Given the description of an element on the screen output the (x, y) to click on. 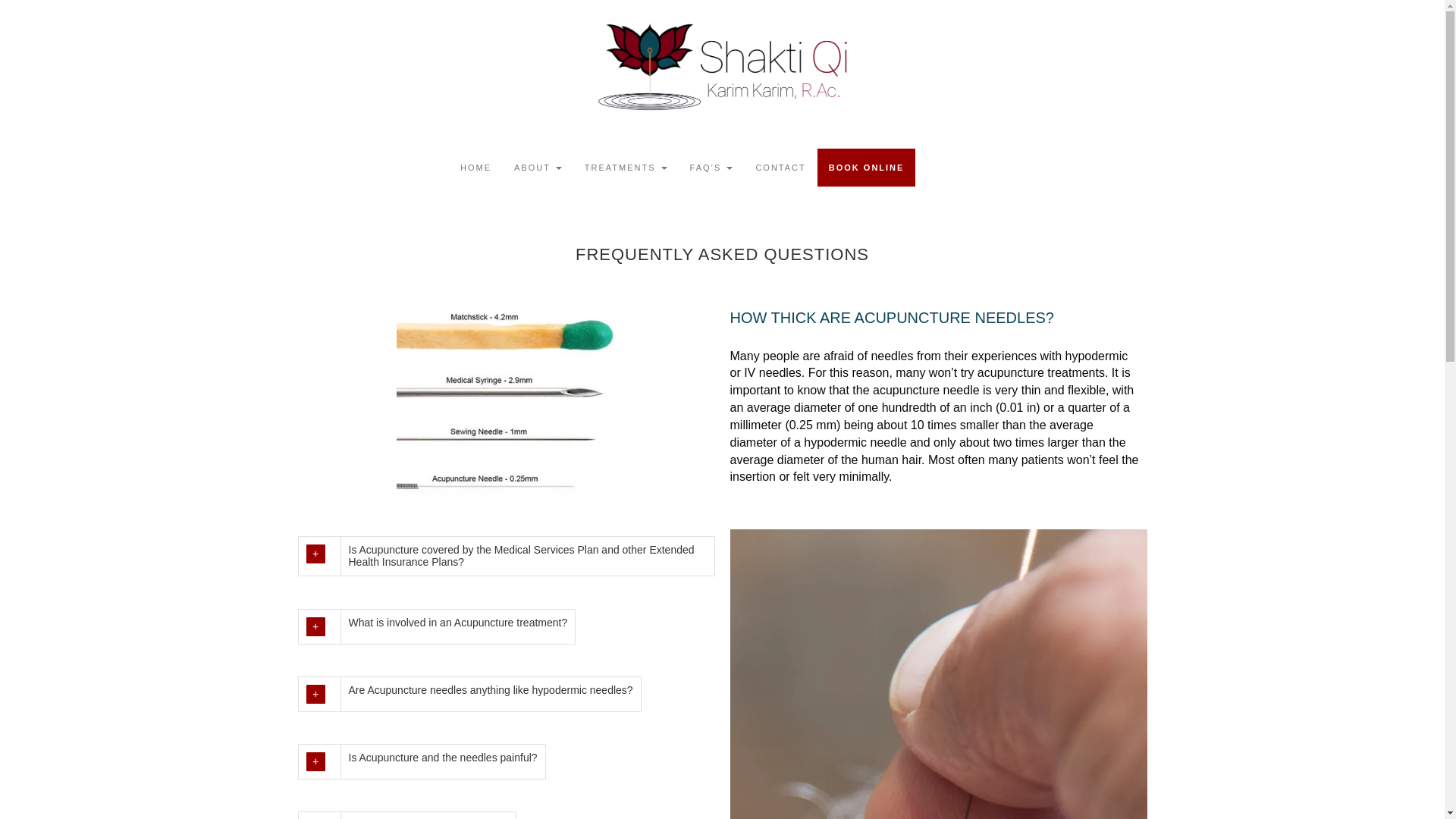
HOME (475, 167)
ABOUT (537, 167)
BOOK ONLINE (865, 167)
TREATMENTS (625, 167)
CONTACT (780, 167)
